Given the description of an element on the screen output the (x, y) to click on. 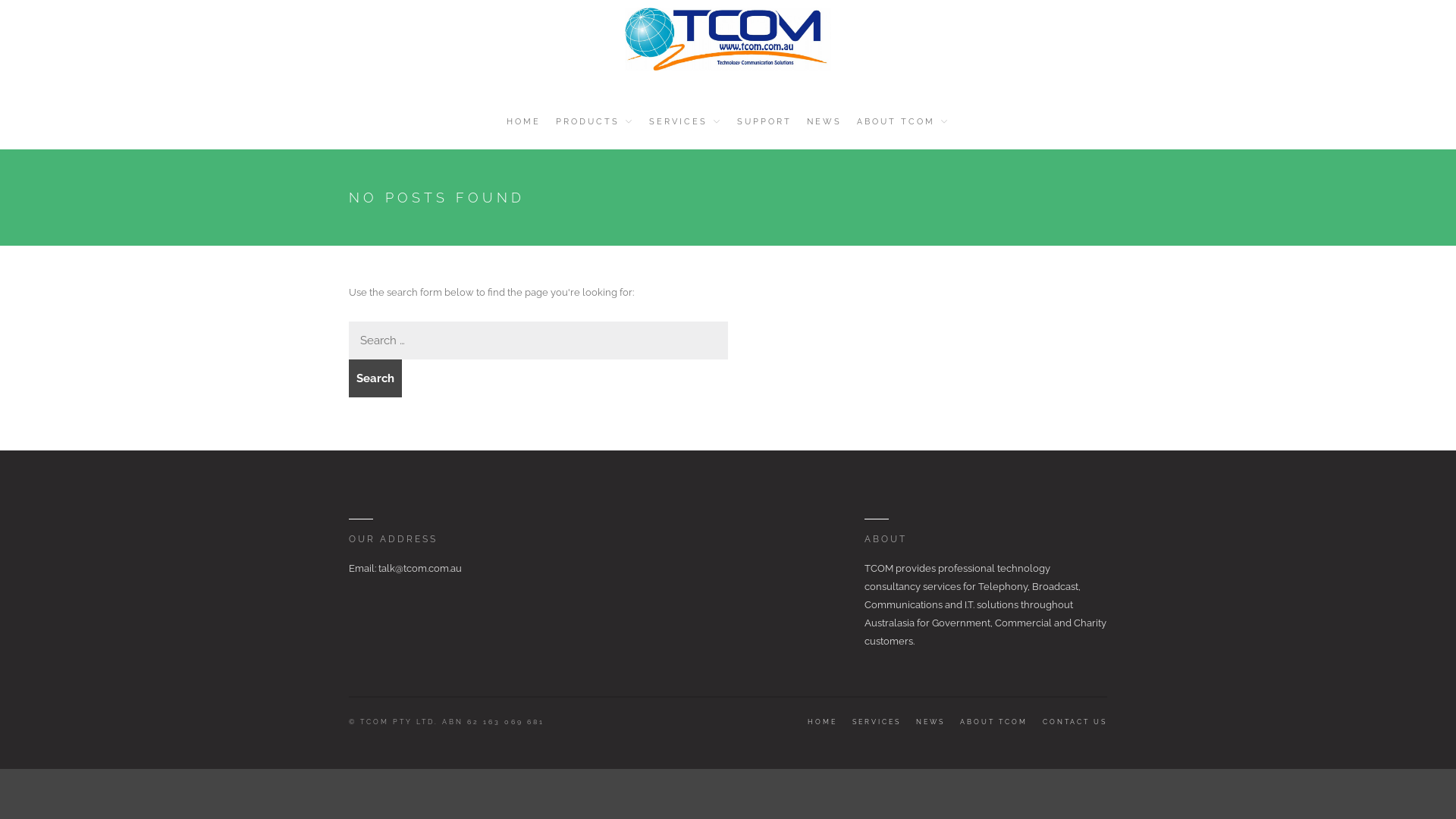
SERVICES Element type: text (876, 721)
SERVICES Element type: text (685, 121)
CONTACT US Element type: text (1074, 721)
HOME Element type: text (523, 121)
PRODUCTS Element type: text (594, 121)
NEWS Element type: text (823, 121)
ABOUT TCOM Element type: text (902, 121)
SUPPORT Element type: text (764, 121)
HOME Element type: text (822, 721)
NEWS Element type: text (930, 721)
Search Element type: text (1368, 119)
Search Element type: text (374, 378)
ABOUT TCOM Element type: text (993, 721)
TCOM Element type: text (366, 95)
